Given the description of an element on the screen output the (x, y) to click on. 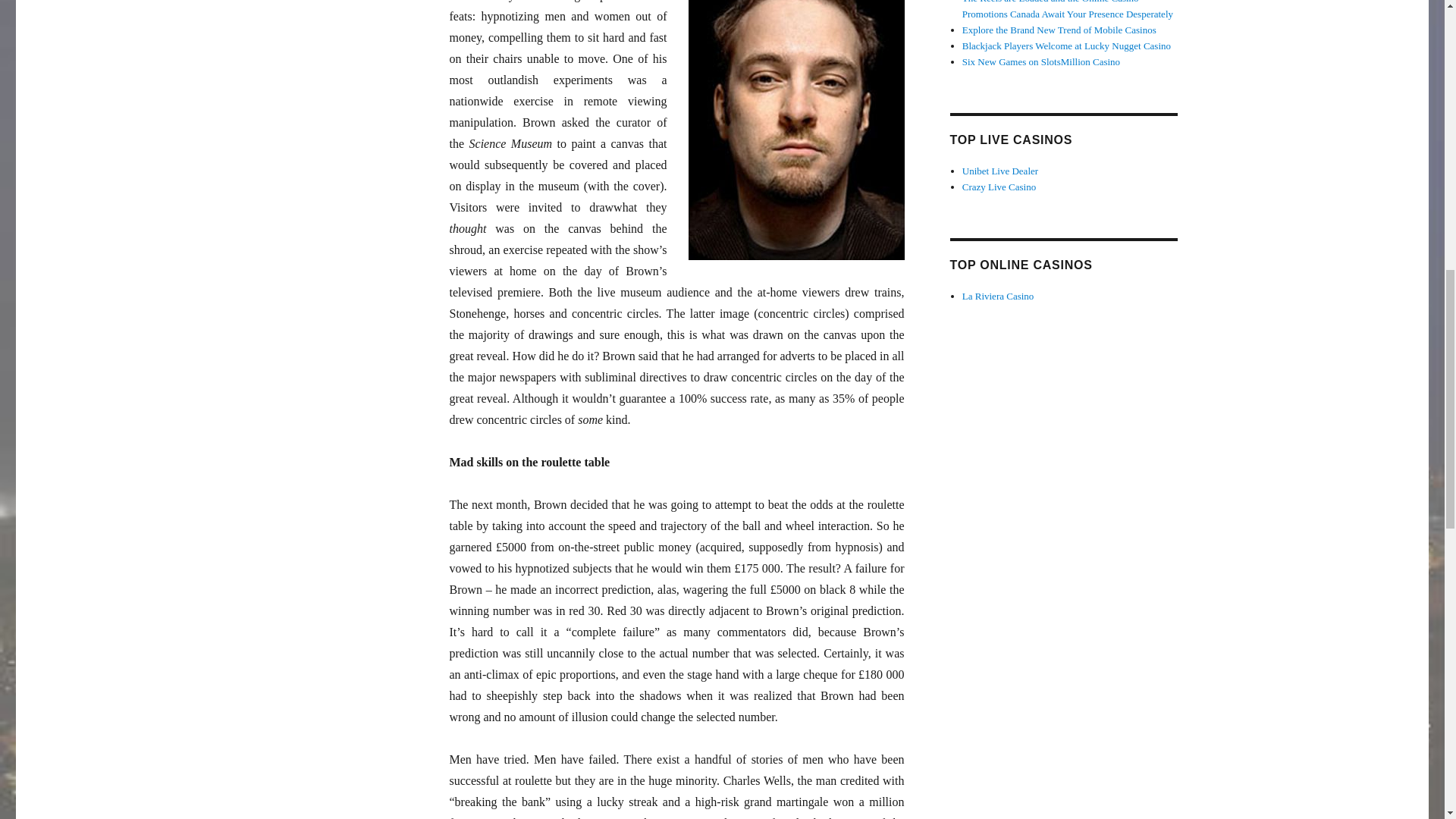
Blackjack Players Welcome at Lucky Nugget Casino (1066, 45)
Six New Games on SlotsMillion Casino (1040, 61)
La Riviera Casino (997, 296)
Explore the Brand New Trend of Mobile Casinos (1059, 30)
Crazy Live Casino (998, 186)
Unibet Live Dealer (1000, 170)
